Given the description of an element on the screen output the (x, y) to click on. 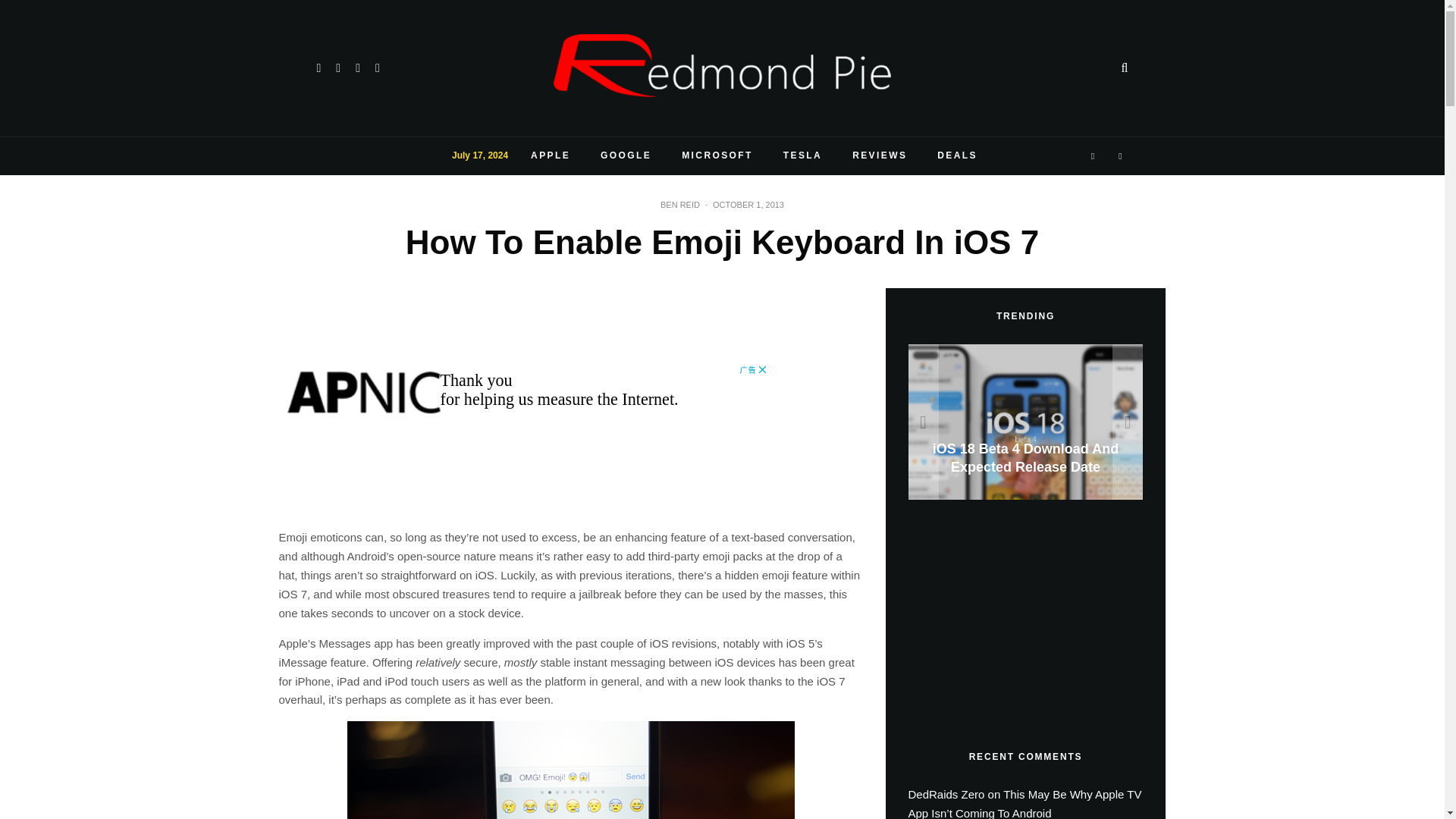
3rd party ad content (523, 394)
GOOGLE (625, 156)
TESLA (802, 156)
MICROSOFT (717, 156)
3rd party ad content (1021, 616)
Emoji keyboard iOS 7 (570, 770)
APPLE (550, 156)
